Given the description of an element on the screen output the (x, y) to click on. 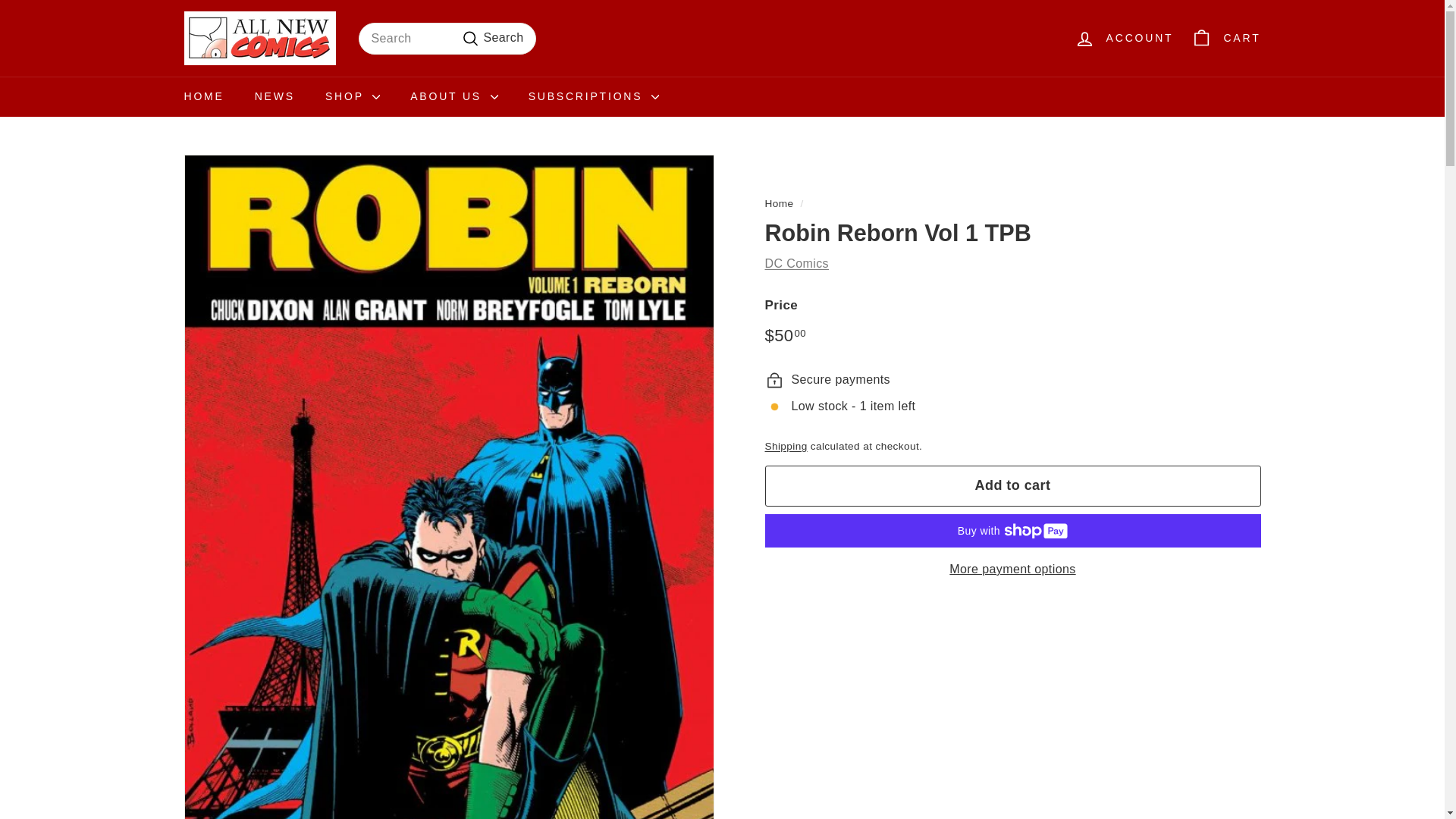
HOME (203, 96)
ACCOUNT (1123, 37)
NEWS (275, 96)
Back to the frontpage (778, 203)
CART (1225, 37)
